Given the description of an element on the screen output the (x, y) to click on. 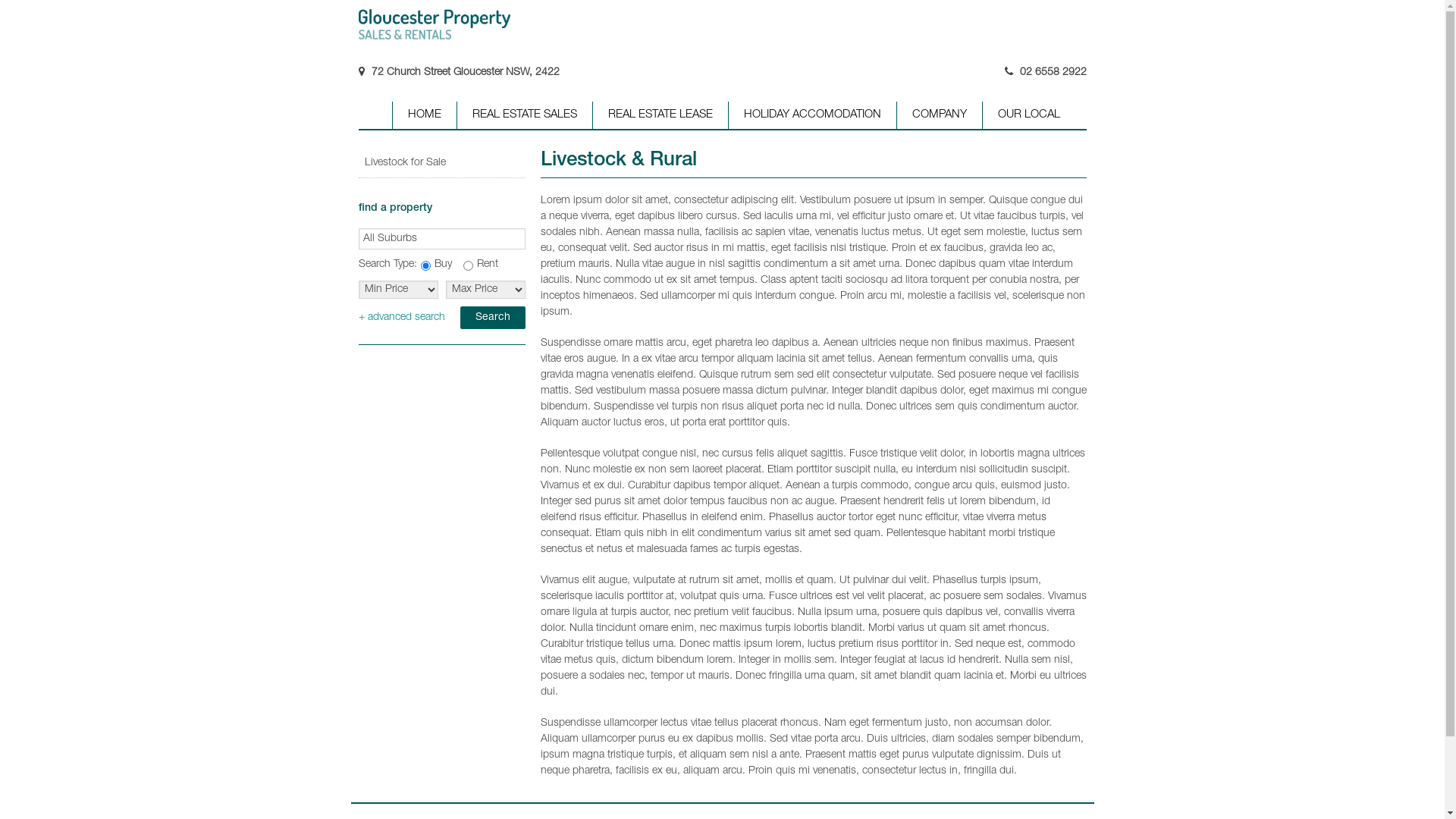
REAL ESTATE LEASE Element type: text (659, 115)
02 6558 2922 Element type: text (1052, 72)
on Element type: text (424, 265)
COMPANY Element type: text (939, 115)
Search Element type: text (491, 317)
+ advanced search Element type: text (400, 318)
Livestock for Sale Element type: text (440, 163)
REAL ESTATE SALES Element type: text (524, 115)
OUR LOCAL Element type: text (1027, 115)
on Element type: text (467, 265)
Gloucester Property Sales & Rentals -  Element type: hover (433, 24)
HOLIDAY ACCOMODATION Element type: text (812, 115)
HOME Element type: text (423, 115)
